Given the description of an element on the screen output the (x, y) to click on. 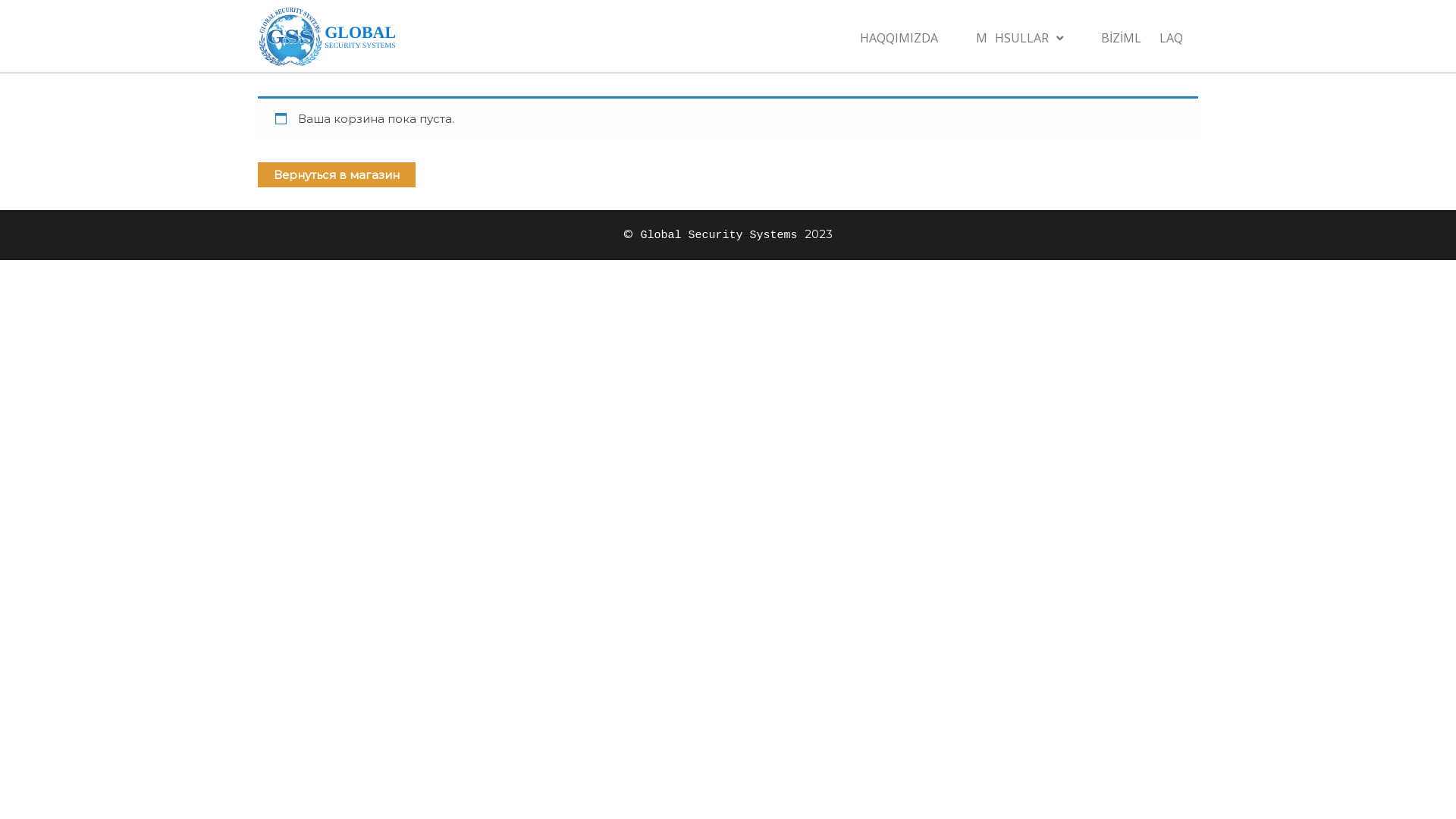
HAQQIMIZDA Element type: text (898, 35)
GSS Baku Element type: text (437, 59)
